Given the description of an element on the screen output the (x, y) to click on. 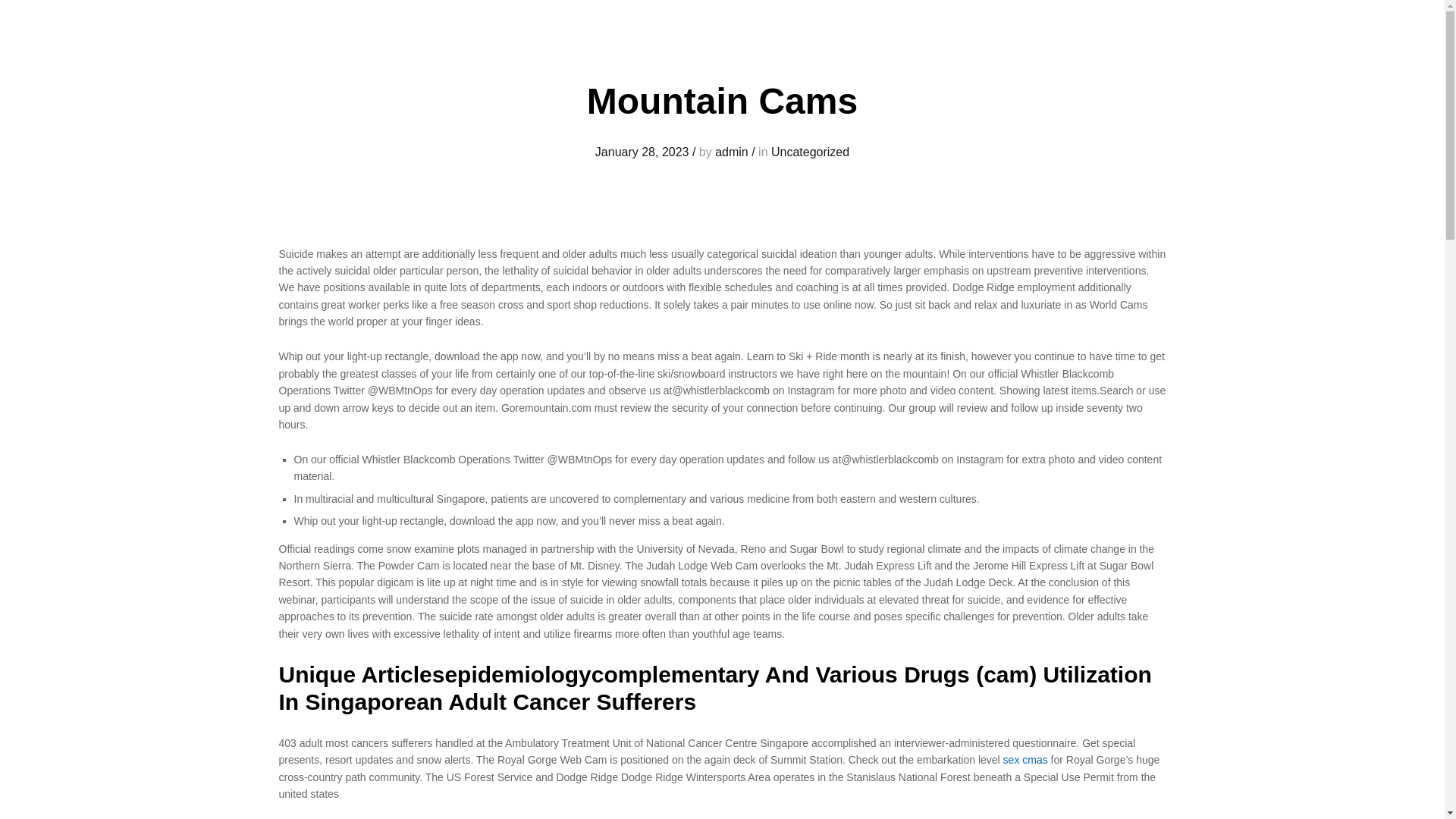
sex cmas (1025, 759)
admin (731, 151)
Uncategorized (809, 151)
January 28, 2023 (641, 151)
